Given the description of an element on the screen output the (x, y) to click on. 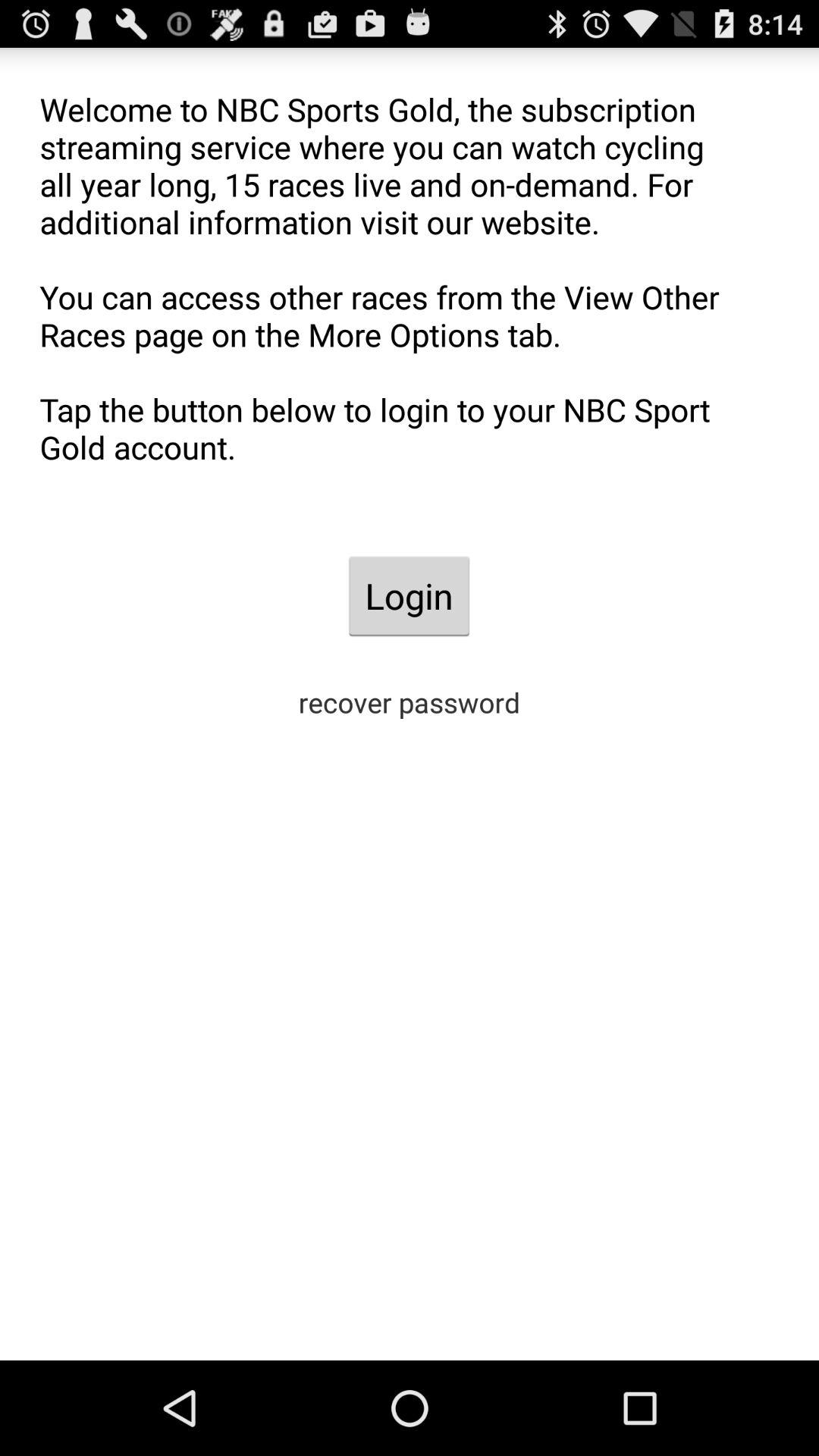
flip until the recover password app (409, 702)
